Given the description of an element on the screen output the (x, y) to click on. 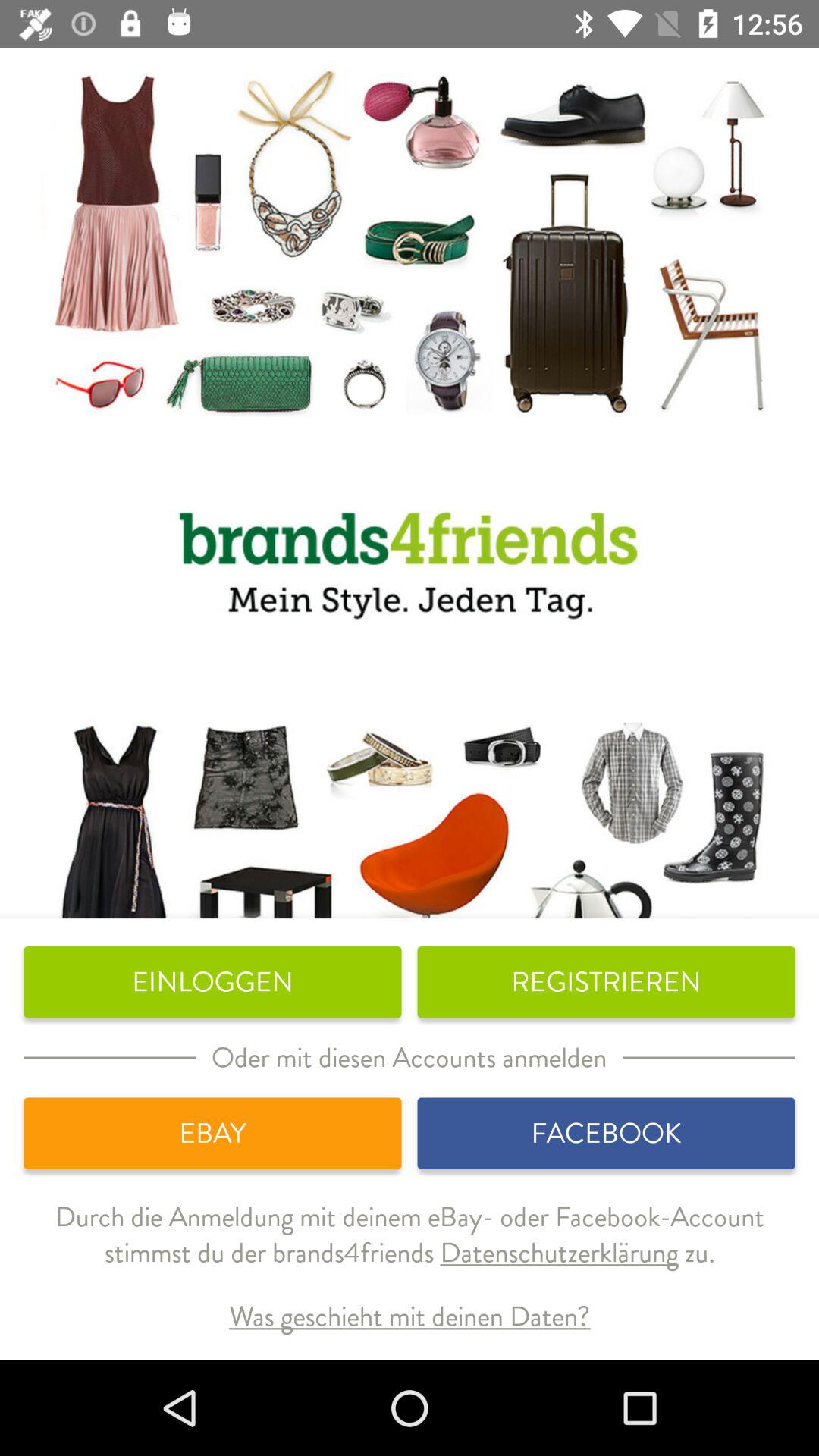
launch item above the oder mit diesen (212, 982)
